Given the description of an element on the screen output the (x, y) to click on. 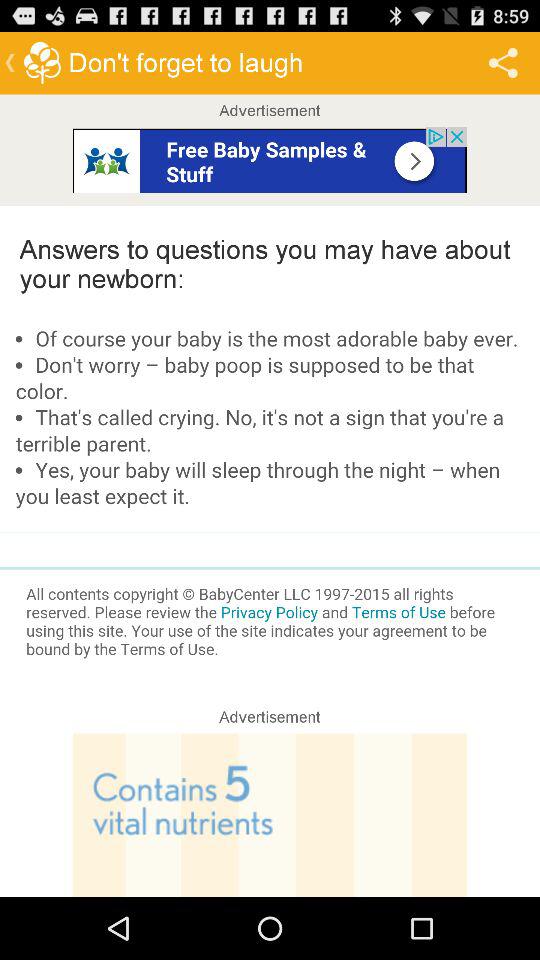
advertisement (269, 815)
